Given the description of an element on the screen output the (x, y) to click on. 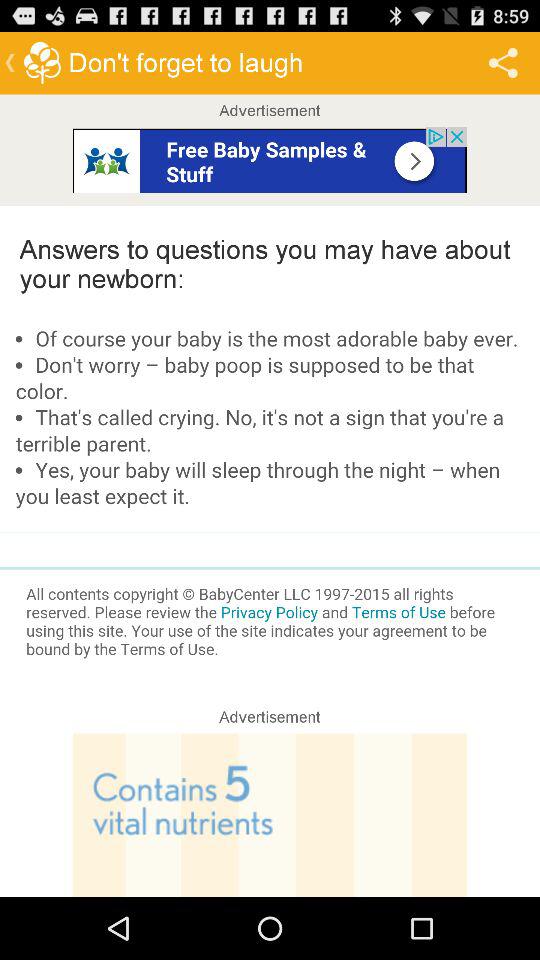
advertisement (269, 815)
